Given the description of an element on the screen output the (x, y) to click on. 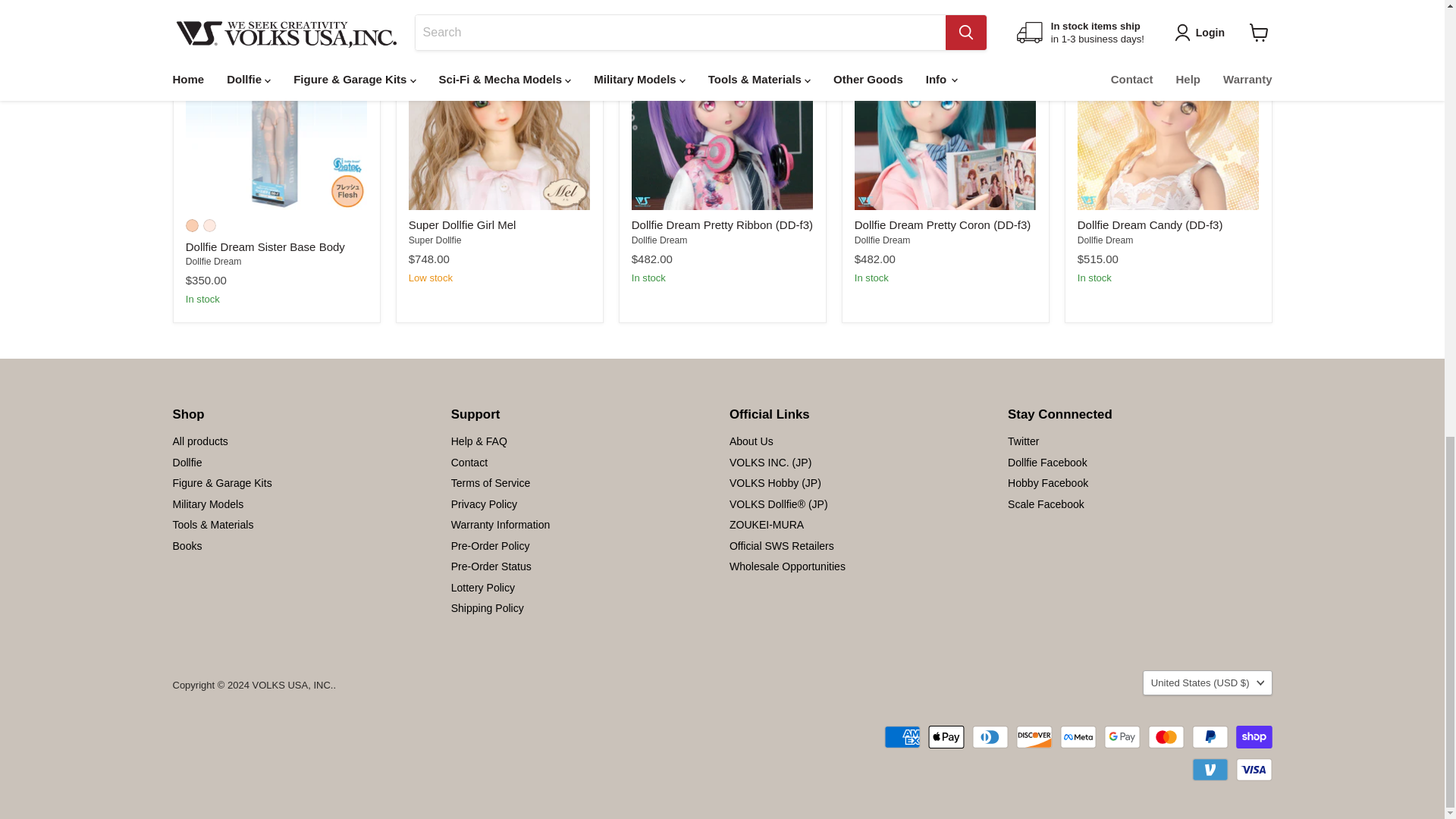
Dollfie Dream (882, 240)
Dollfie Dream (213, 261)
Dollfie Dream (659, 240)
Dollfie Dream (1105, 240)
American Express (901, 736)
Super Dollfie (435, 240)
